Given the description of an element on the screen output the (x, y) to click on. 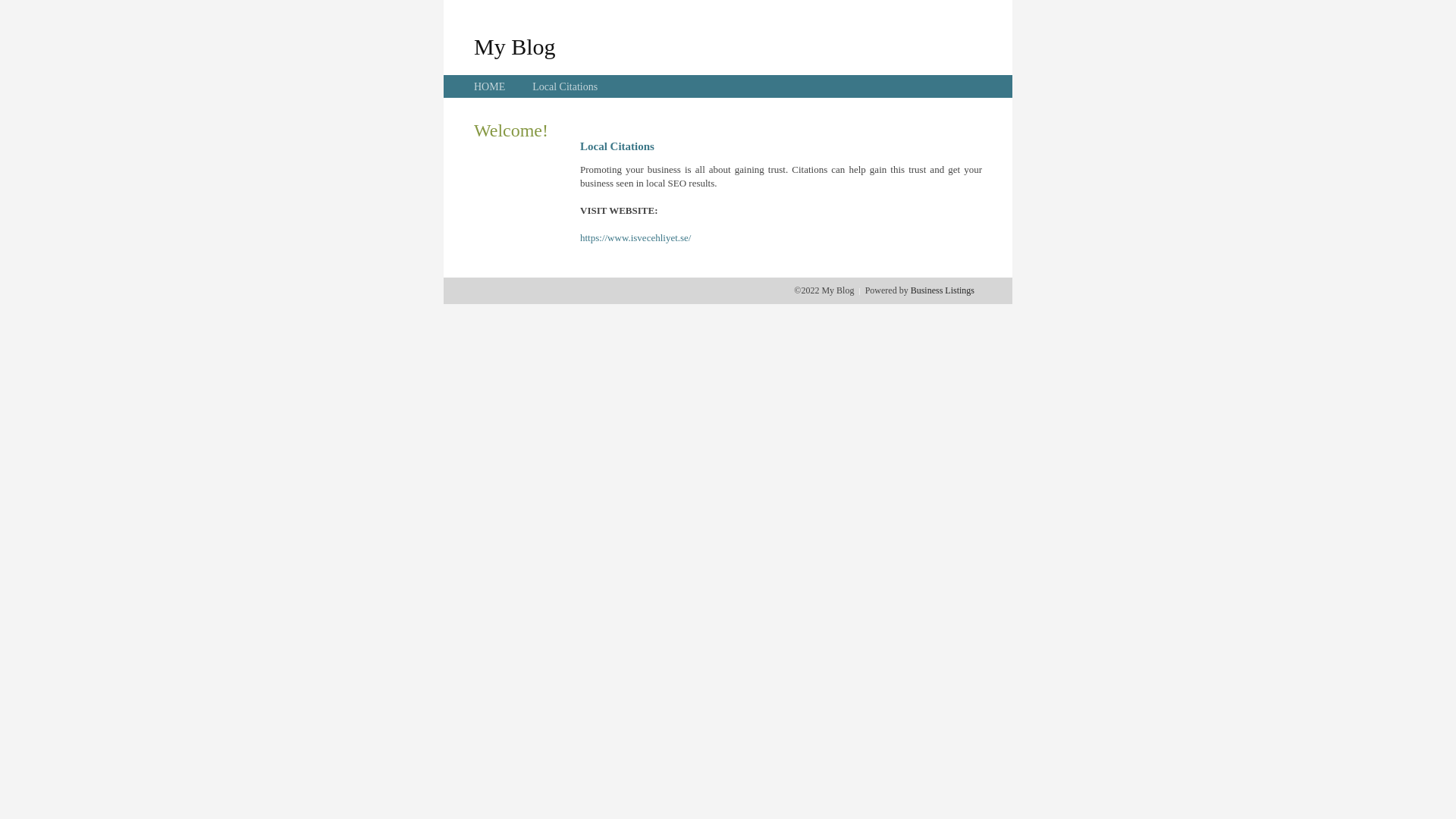
My Blog Element type: text (514, 46)
Business Listings Element type: text (942, 290)
https://www.isvecehliyet.se/ Element type: text (635, 237)
HOME Element type: text (489, 86)
Local Citations Element type: text (564, 86)
